Given the description of an element on the screen output the (x, y) to click on. 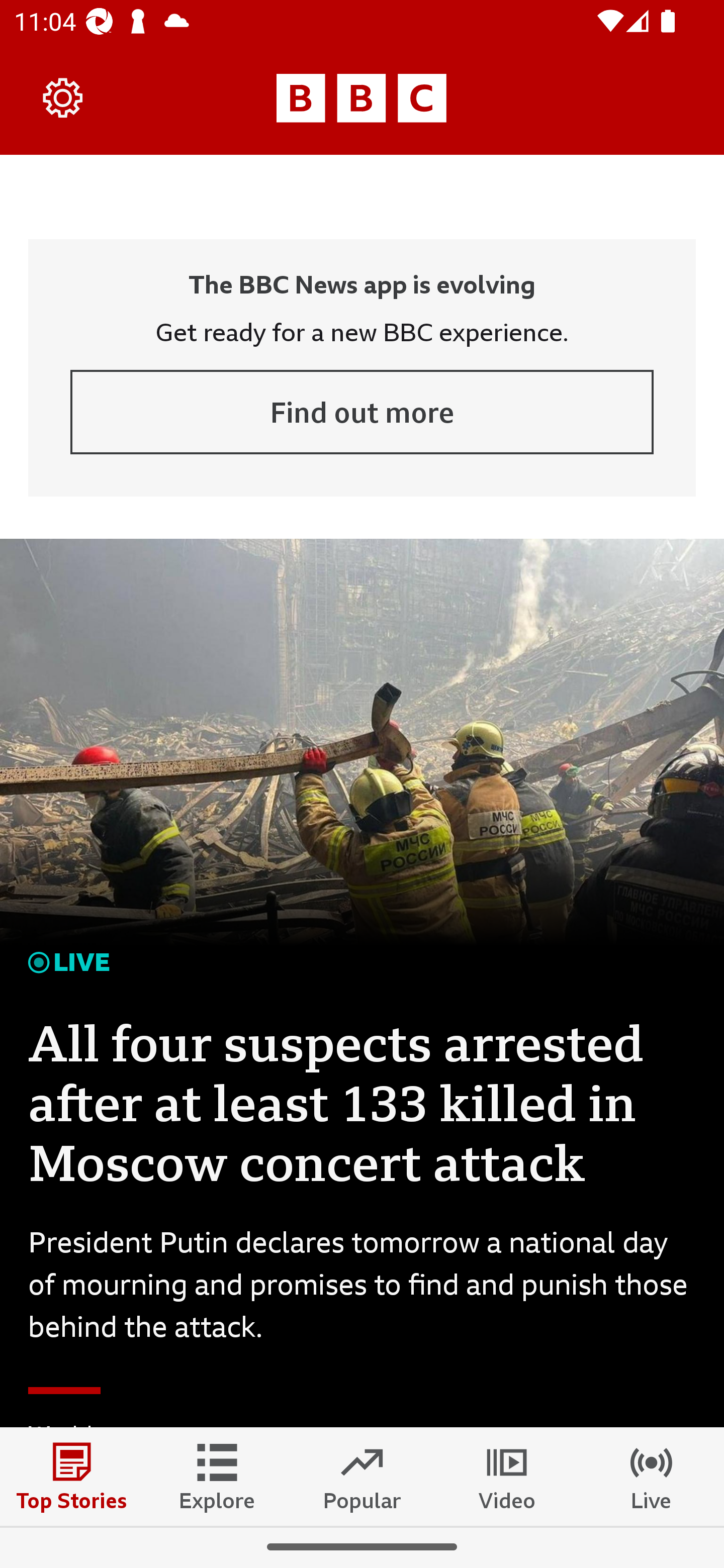
Settings (63, 97)
Find out more (361, 412)
Explore (216, 1475)
Popular (361, 1475)
Video (506, 1475)
Live (651, 1475)
